Given the description of an element on the screen output the (x, y) to click on. 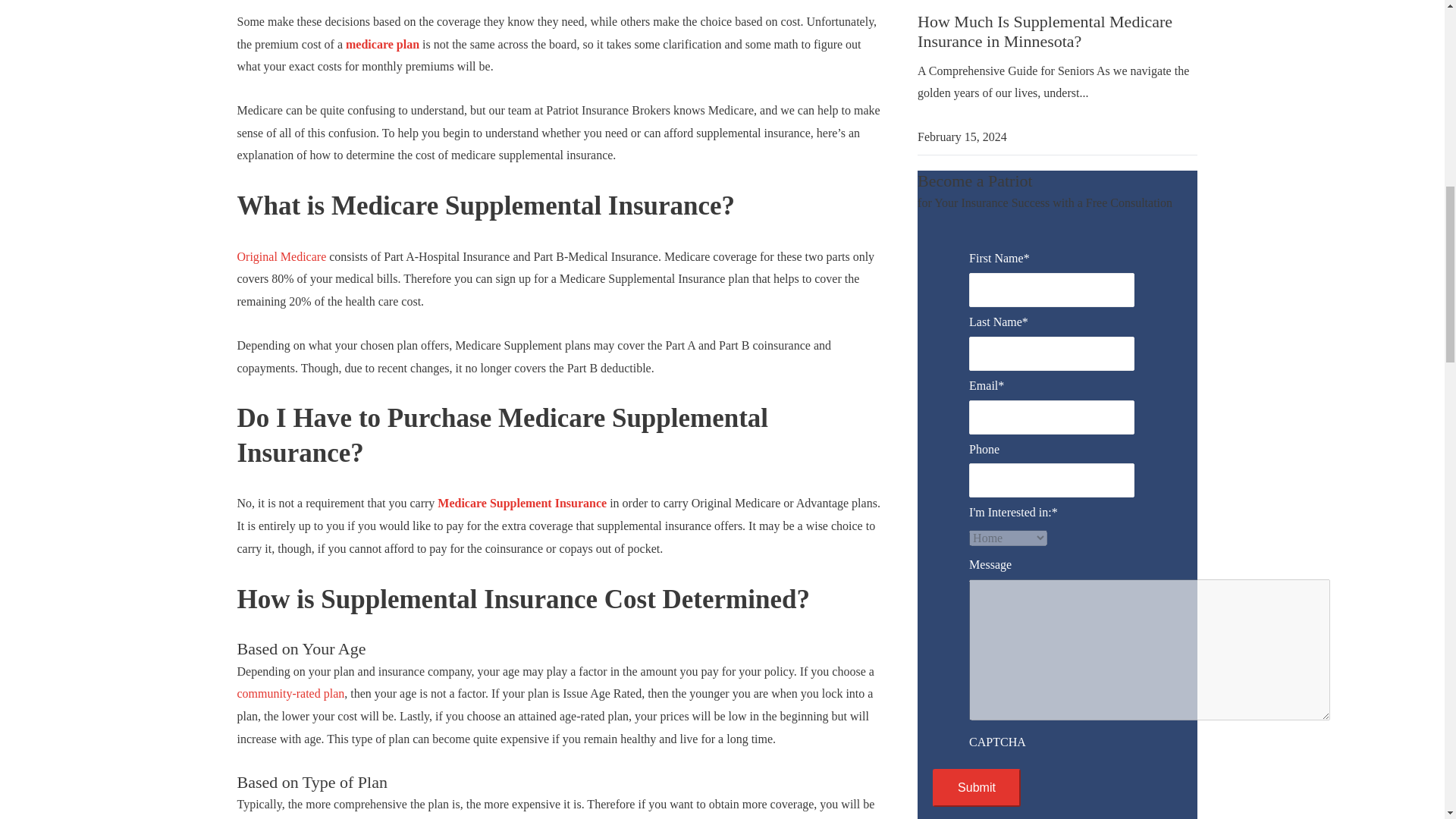
Original Medicare (280, 256)
Submit (976, 787)
medicare plan (382, 43)
Medicare Supplement Insurance (522, 502)
